Given the description of an element on the screen output the (x, y) to click on. 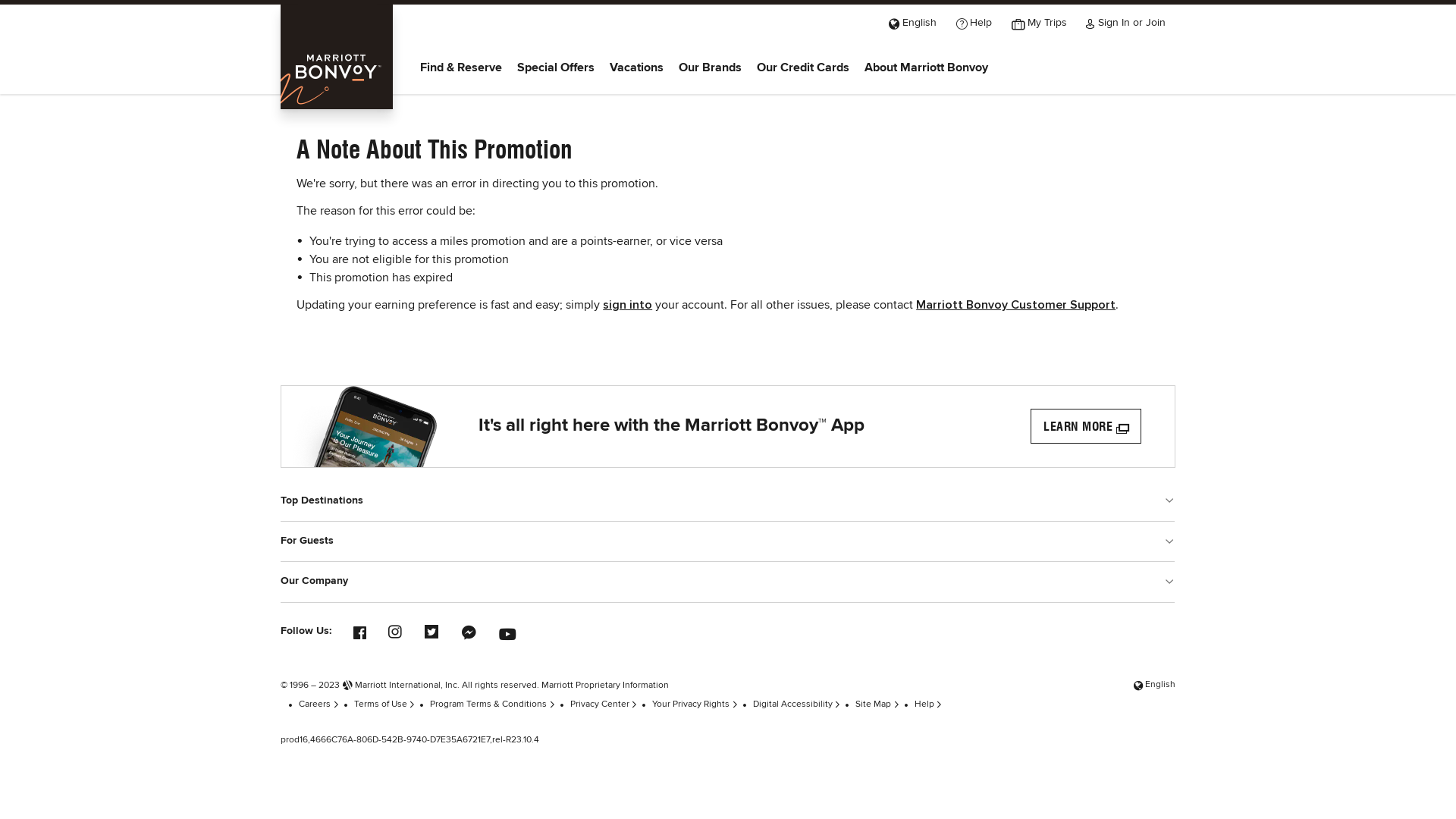
Facebook Element type: text (357, 626)
My Trips Element type: text (1038, 21)
Our Brands Element type: text (709, 67)
Our Company Element type: text (727, 580)
Privacy Center Element type: text (603, 704)
Twitter Element type: text (430, 627)
Sign In or Join Element type: text (1125, 21)
English Element type: text (913, 21)
LEARN MORE Element type: text (1085, 425)
For Guests Element type: text (727, 540)
Careers Element type: text (318, 704)
Special Offers Element type: text (555, 67)
English Element type: text (1154, 683)
Find & Reserve Element type: text (461, 67)
Marriott Bonvoy Customer Support Element type: text (1015, 304)
Our Credit Cards Element type: text (802, 67)
Instagram Element type: text (394, 627)
Your Privacy Rights Element type: text (694, 704)
Top Destinations Element type: text (727, 499)
Digital Accessibility Element type: text (796, 704)
sign into Element type: text (627, 304)
Facebook Messenger Element type: text (467, 628)
Marriott Bonvoy Element type: text (337, 55)
Terms of Use Element type: text (384, 704)
Vacations Element type: text (636, 67)
Program Terms & Conditions Element type: text (492, 704)
Help Element type: text (928, 704)
Help Element type: text (973, 21)
About Marriott Bonvoy Element type: text (926, 67)
YouTube Element type: text (504, 624)
Site Map Element type: text (877, 704)
